Given the description of an element on the screen output the (x, y) to click on. 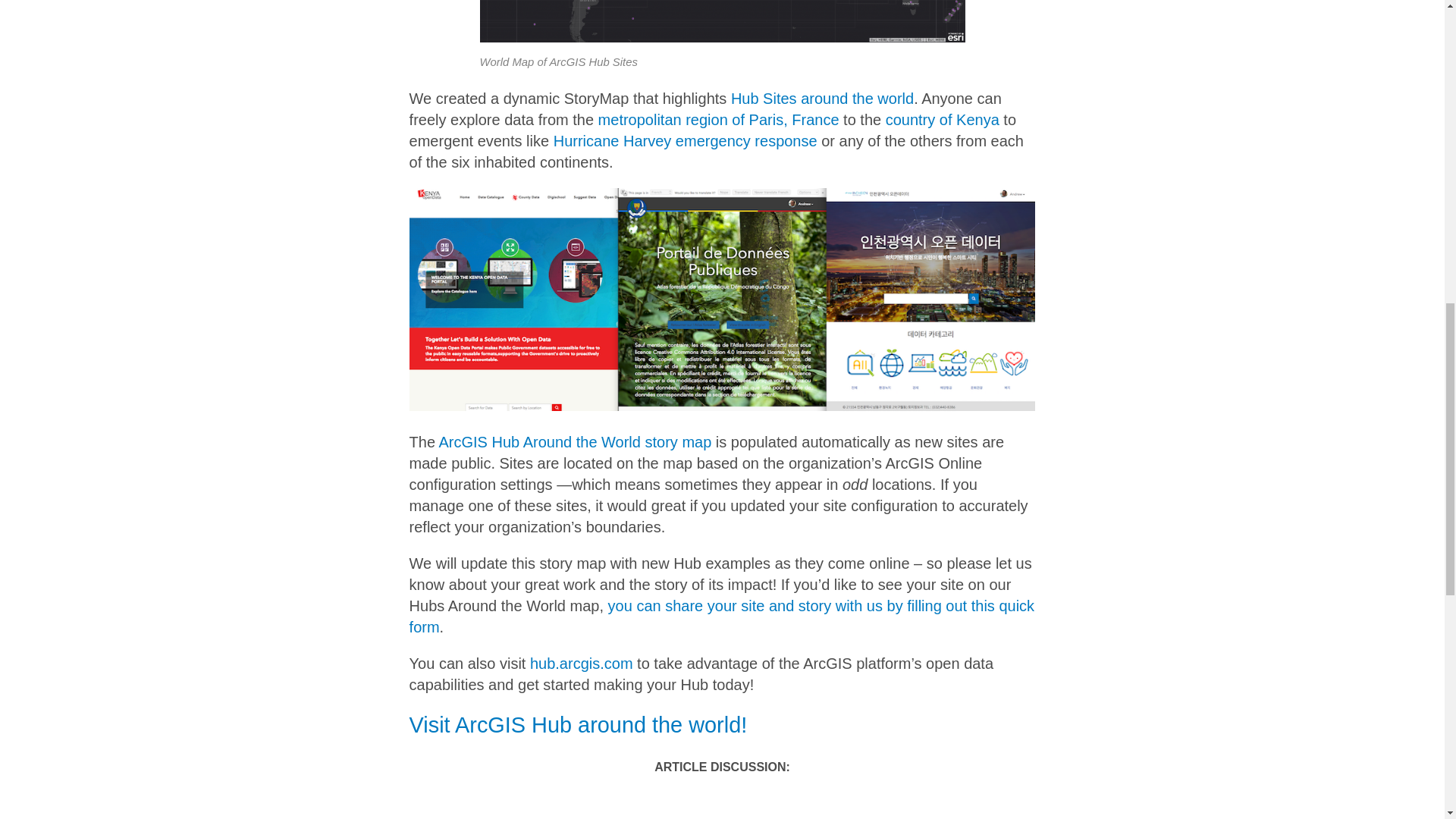
hub.arcgis.com (581, 663)
Hurricane Harvey emergency response (684, 140)
Hurricane Harvey open data (684, 140)
ArcGIS Hub Around the World story map (574, 442)
Kenya Open Data (941, 119)
metropolitan region of Paris, France (719, 119)
Hub Sites around the World (822, 98)
Visit ArcGIS Hub around the world! (578, 724)
Paris region from Hubs around the World (719, 119)
